Given the description of an element on the screen output the (x, y) to click on. 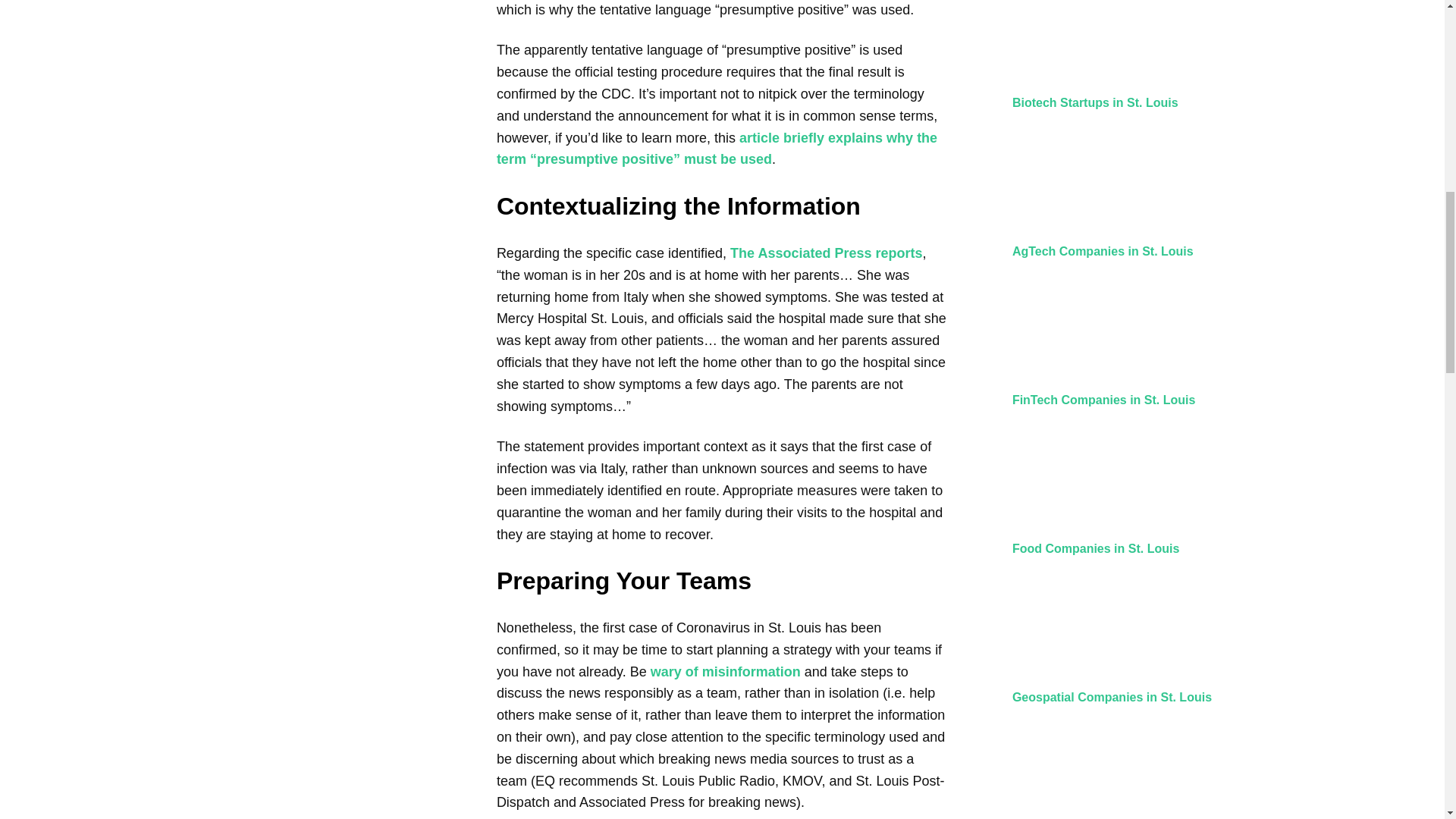
Biotech Startups in St. Louis (1094, 102)
The Associated Press reports (825, 253)
Geospatial Companies in St. Louis (1111, 697)
AgTech Companies in St. Louis (1102, 250)
Food Companies in St. Louis (1095, 548)
wary of misinformation (725, 671)
FinTech Companies in St. Louis (1103, 399)
